Given the description of an element on the screen output the (x, y) to click on. 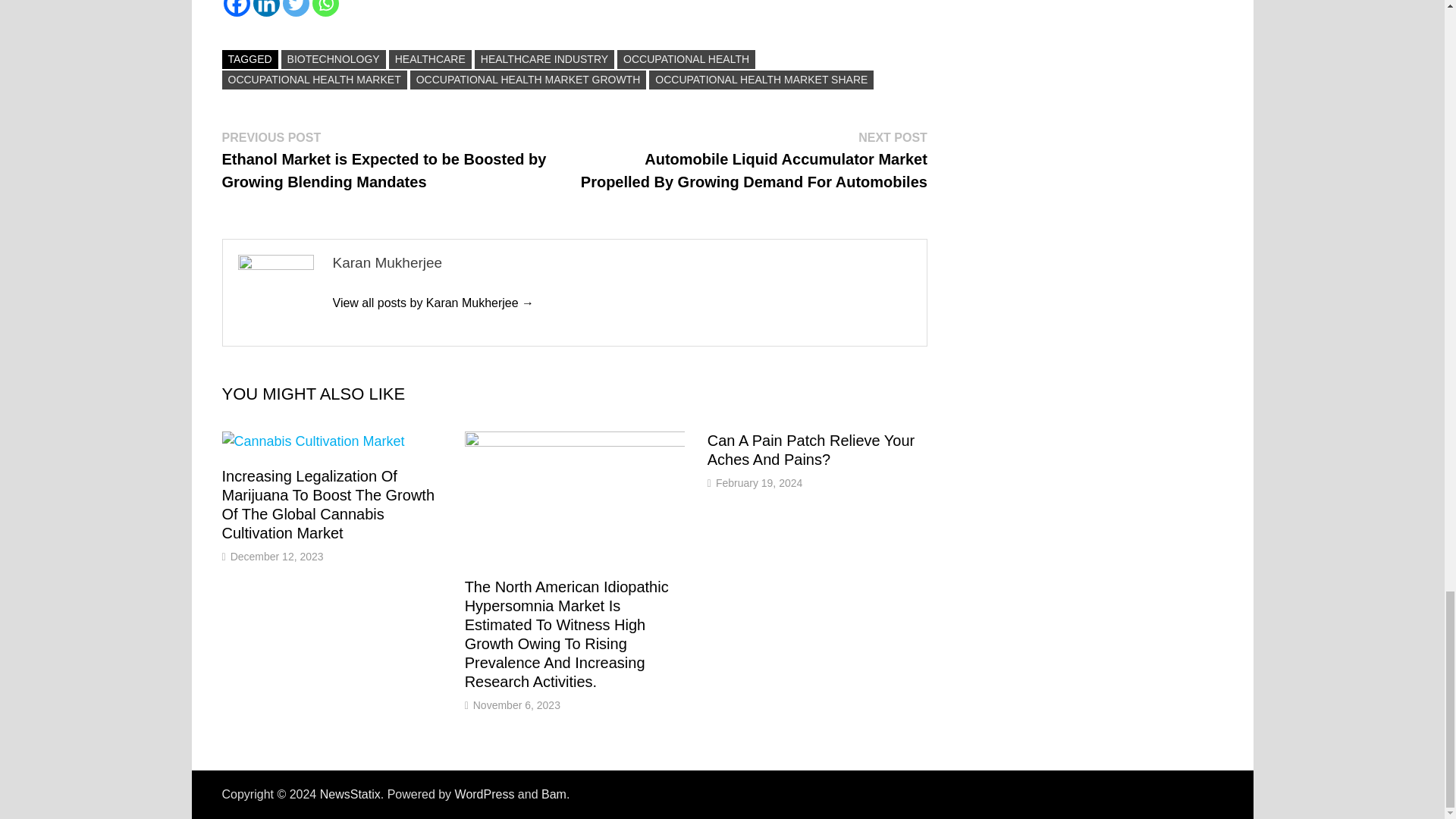
Can A Pain Patch Relieve Your Aches And Pains? (811, 449)
NewsStatix (350, 793)
Twitter (295, 8)
Karan Mukherjee (432, 302)
Whatsapp (326, 8)
Facebook (235, 8)
Linkedin (266, 8)
